Given the description of an element on the screen output the (x, y) to click on. 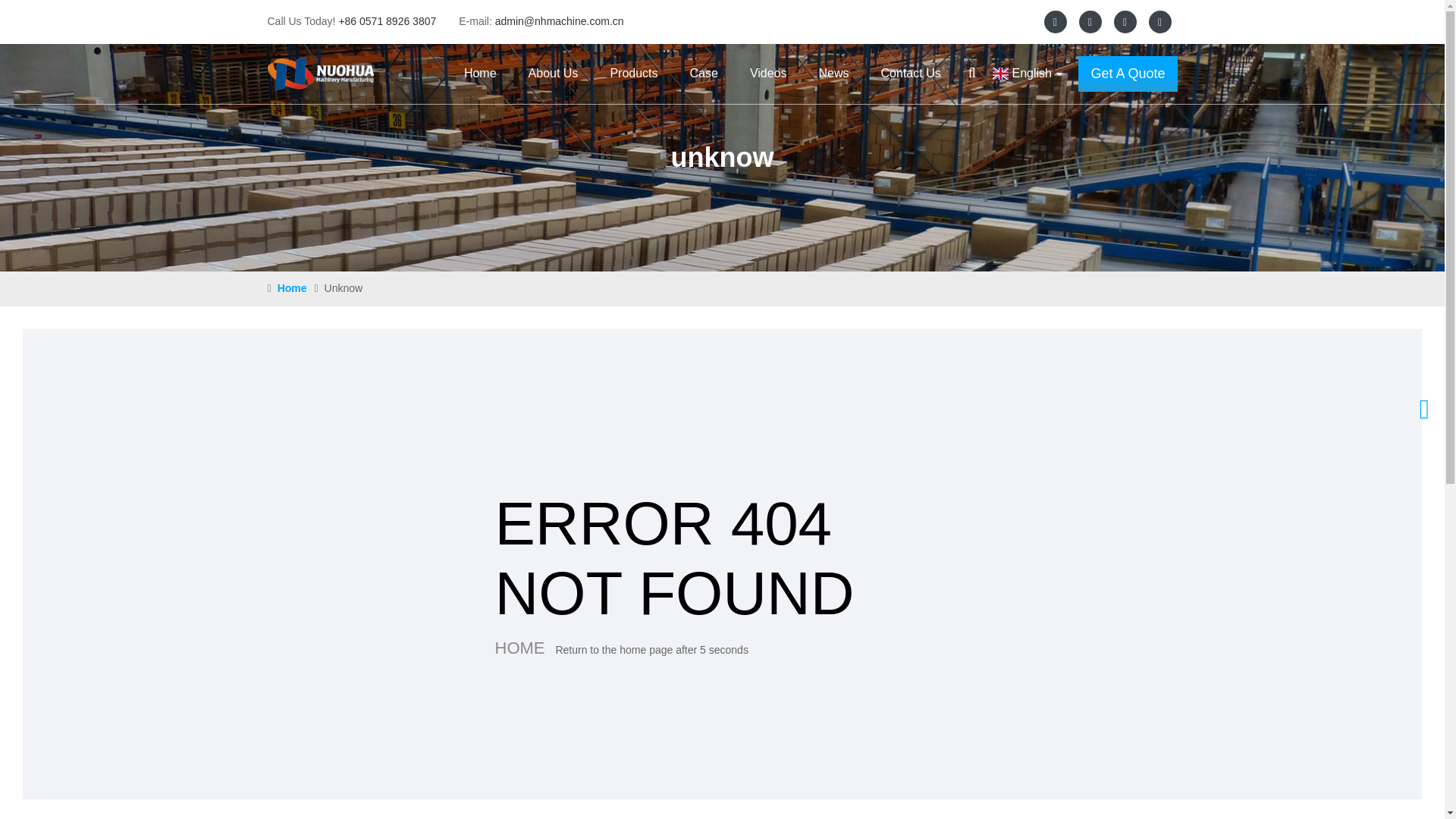
Products (633, 74)
Get A Quote (1127, 74)
English (1024, 73)
About Us (553, 74)
Contact Us (910, 74)
